Given the description of an element on the screen output the (x, y) to click on. 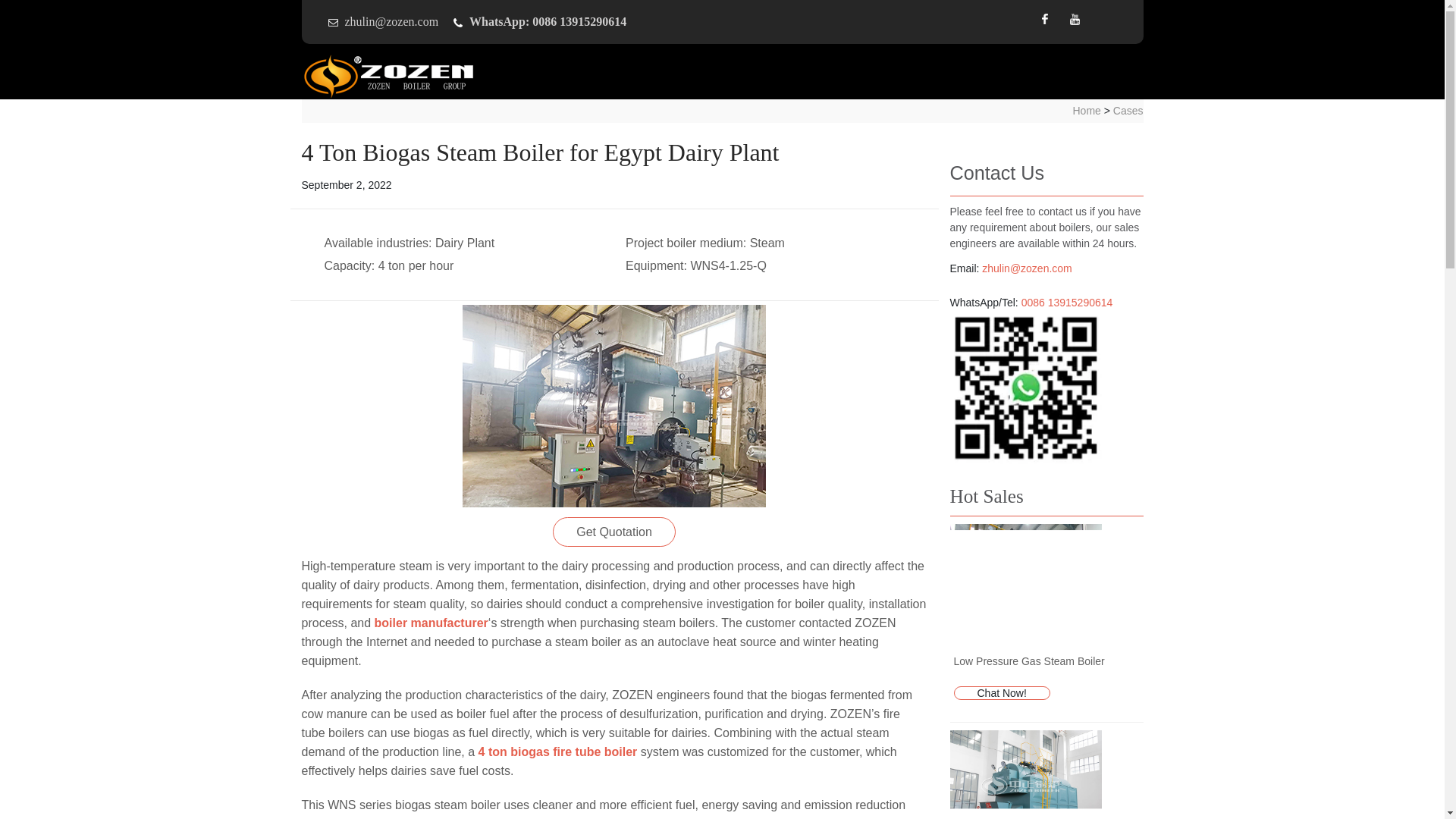
facebook (1044, 19)
Low Pressure Gas Steam Boiler (1029, 661)
Home (1085, 110)
Chat Now! (1001, 693)
Get Quotation (614, 531)
boiler manufacturer (430, 622)
linkedin (1105, 19)
Cases (1127, 110)
0086 13915290614 (1067, 302)
4 ton biogas fire tube boiler (558, 751)
youtube-link (1074, 19)
